Given the description of an element on the screen output the (x, y) to click on. 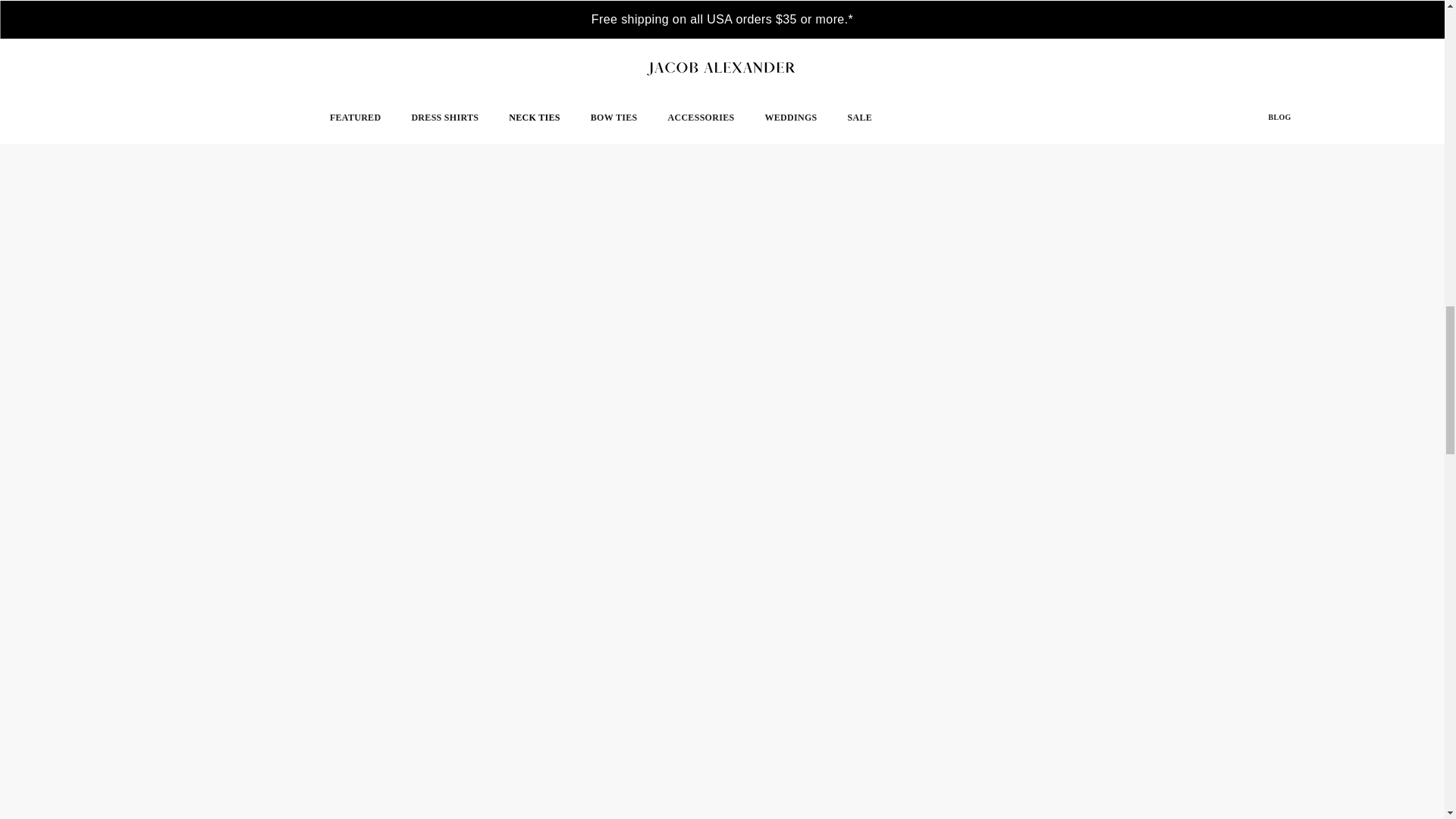
Kid's Mini Squares Tie - Navy Blue (532, 737)
